Given the description of an element on the screen output the (x, y) to click on. 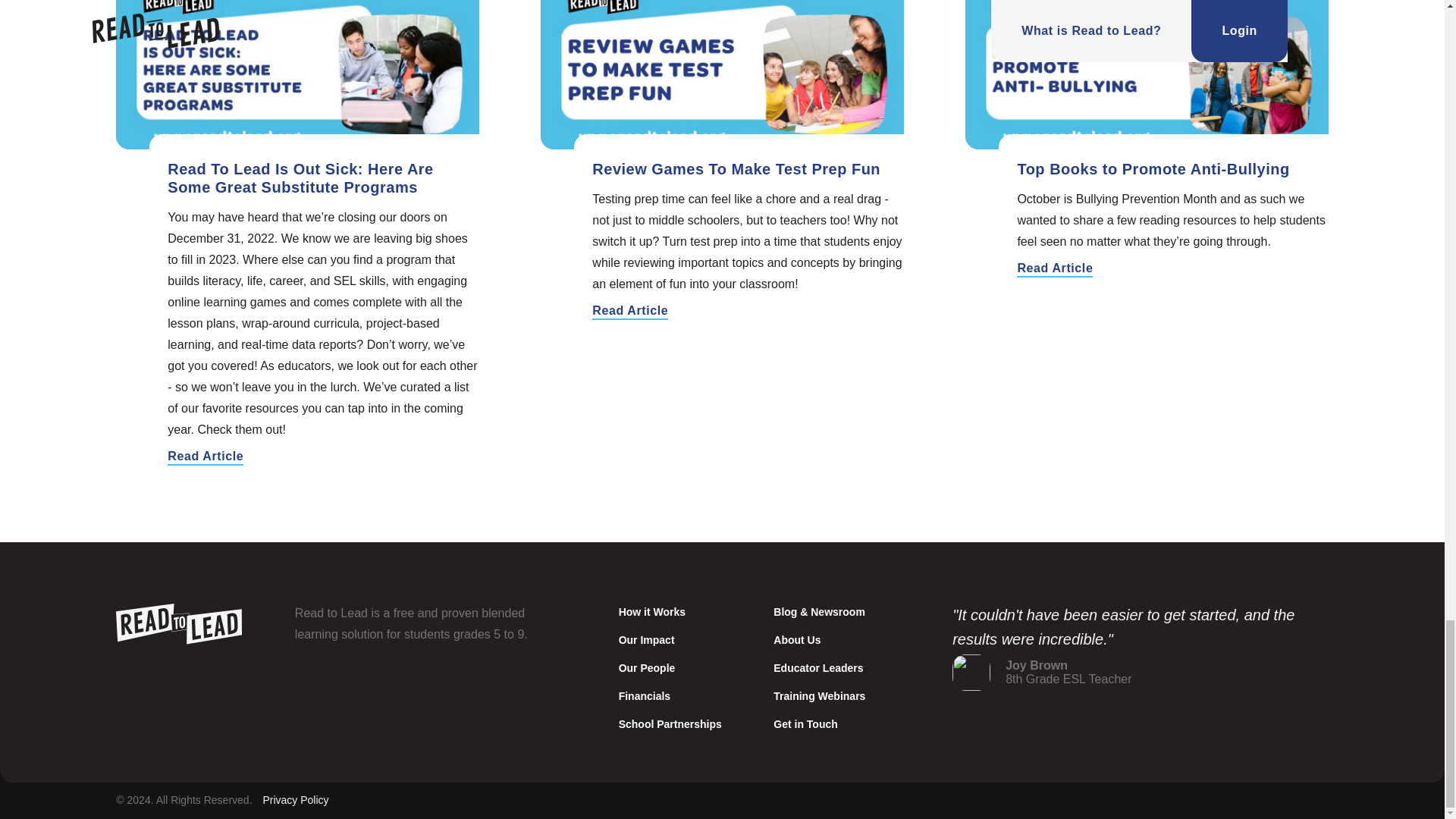
Read Article (630, 311)
Review Games To Make Test Prep Fun (736, 168)
Read Article (1054, 269)
Read Article (205, 457)
Top Books to Promote Anti-Bullying (1152, 168)
